Given the description of an element on the screen output the (x, y) to click on. 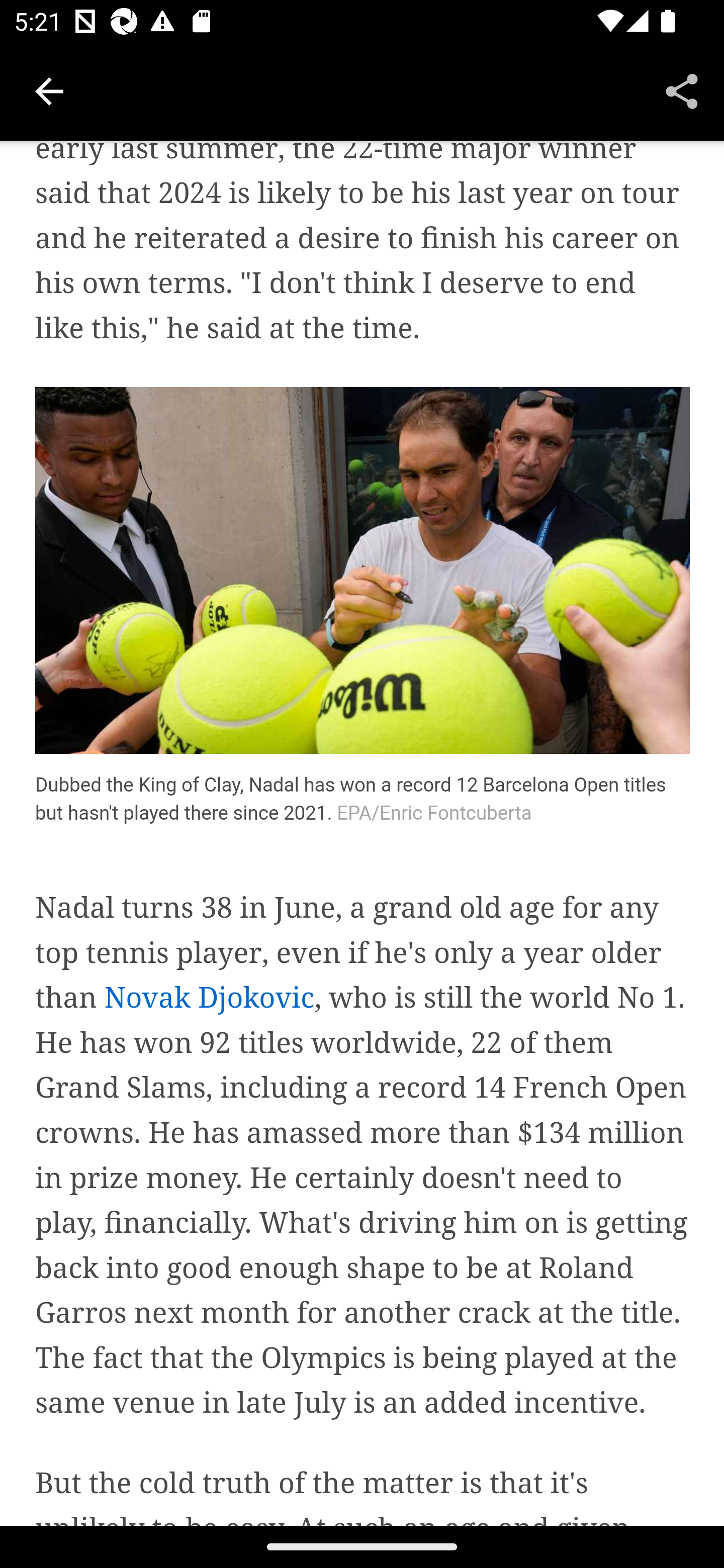
Navigate up (49, 91)
Share (681, 90)
